Given the description of an element on the screen output the (x, y) to click on. 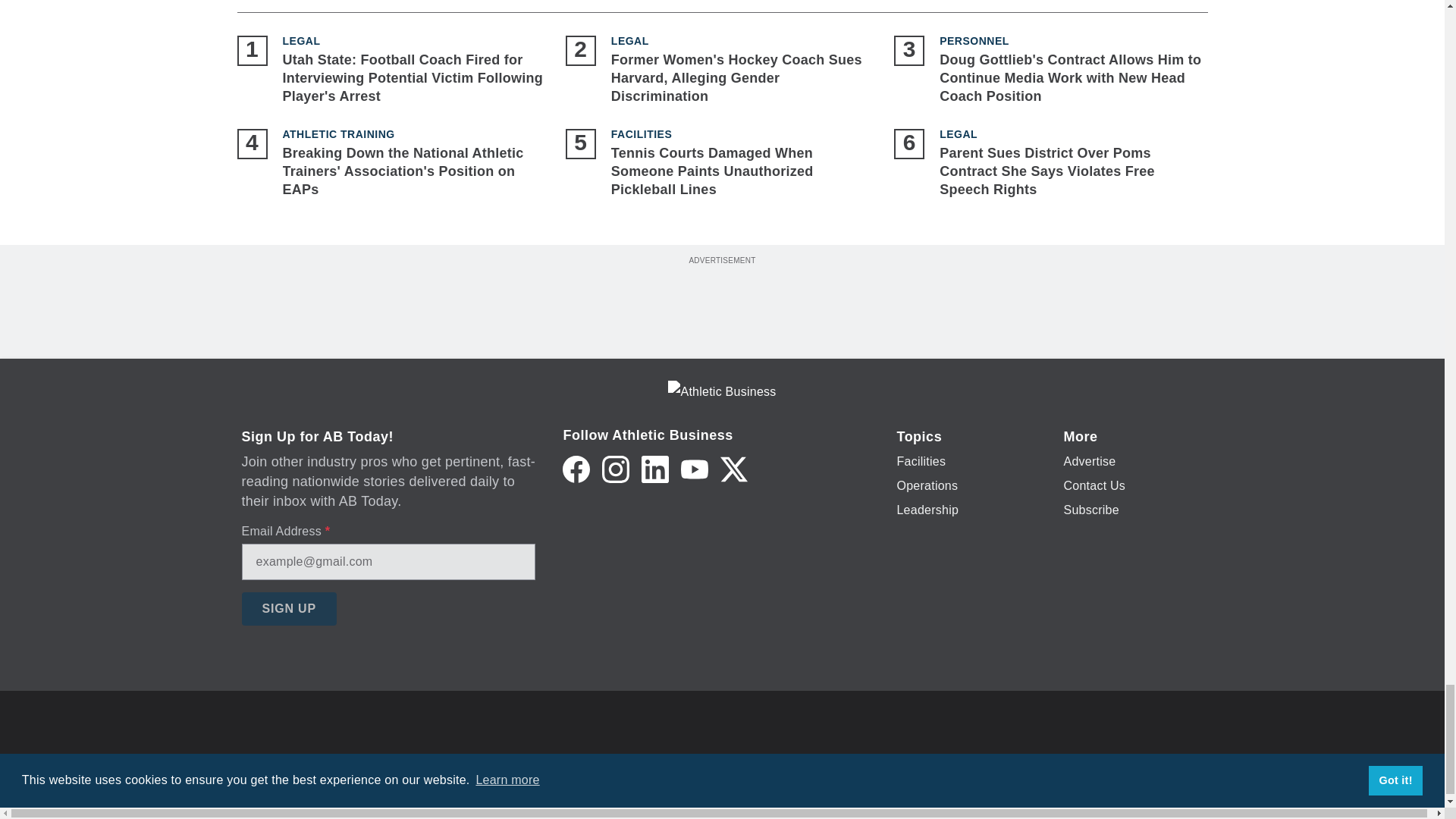
YouTube icon (694, 469)
Facebook icon (575, 469)
Instagram icon (615, 469)
Twitter X icon (734, 469)
LinkedIn icon (655, 469)
